Given the description of an element on the screen output the (x, y) to click on. 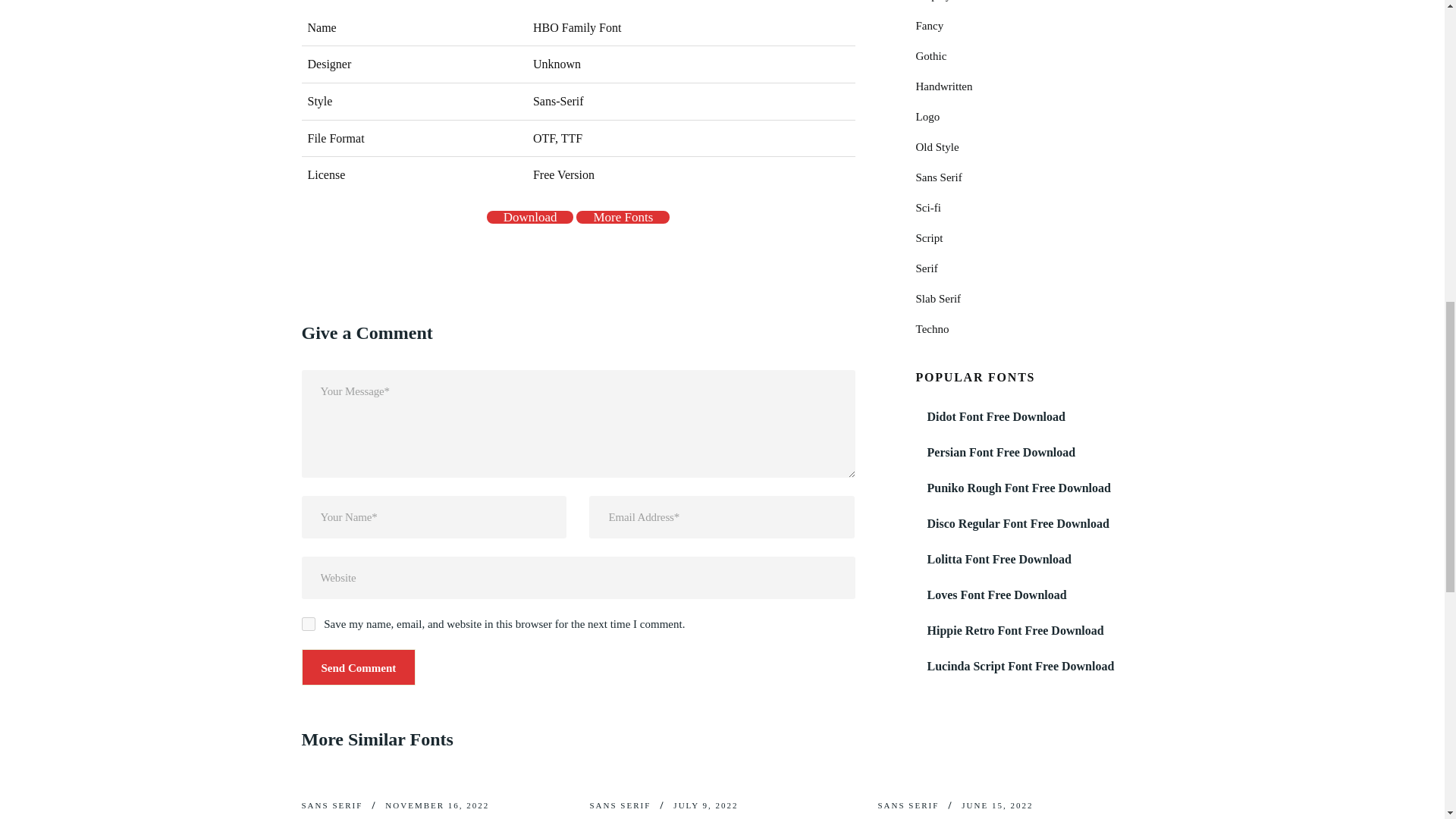
yes (308, 623)
Fancy (929, 25)
Send Comment (358, 667)
Send Comment (358, 667)
More Fonts (622, 216)
Download (529, 216)
Display (933, 0)
